Given the description of an element on the screen output the (x, y) to click on. 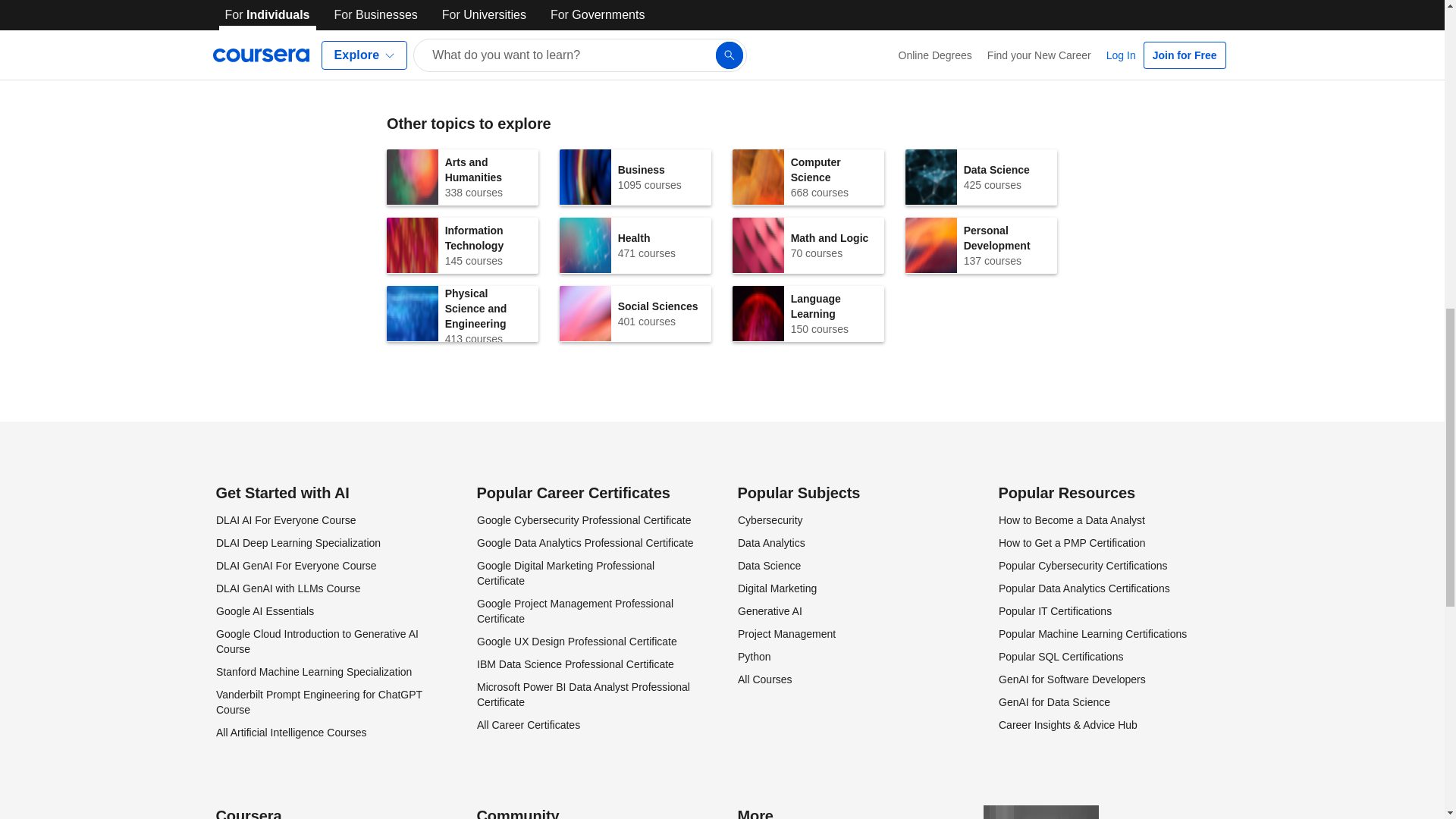
DLAI GenAI with LLMs Course (635, 245)
DLAI GenAI For Everyone Course (287, 588)
Vanderbilt Prompt Engineering for ChatGPT Course (462, 177)
Google AI Essentials (981, 177)
DLAI Deep Learning Specialization (295, 565)
